Given the description of an element on the screen output the (x, y) to click on. 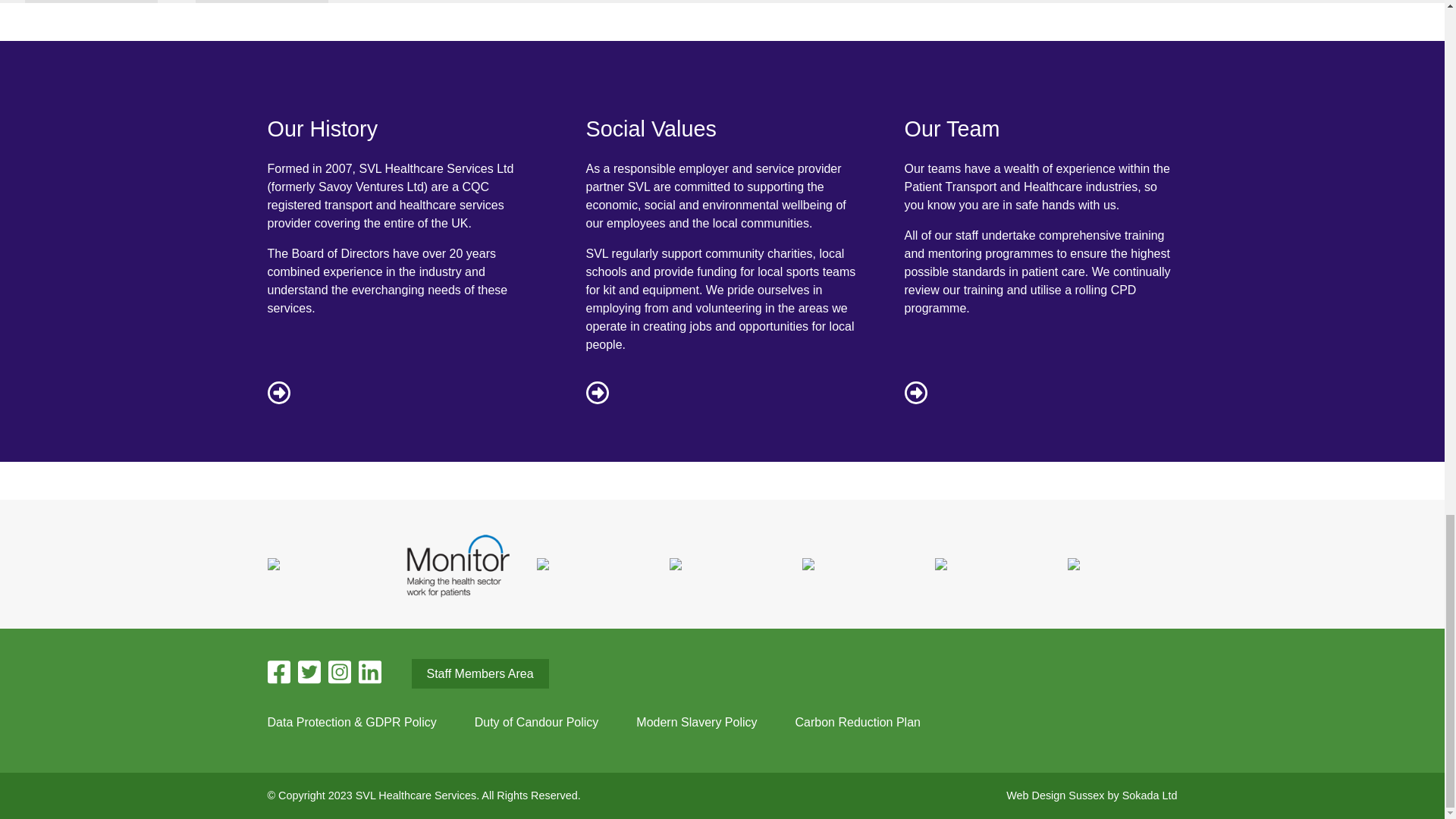
Duty of Candour Policy (536, 721)
Modern Slavery Policy (696, 721)
Staff Members Area (479, 673)
Sokada Ltd (1149, 794)
Carbon Reduction Plan (857, 721)
